Given the description of an element on the screen output the (x, y) to click on. 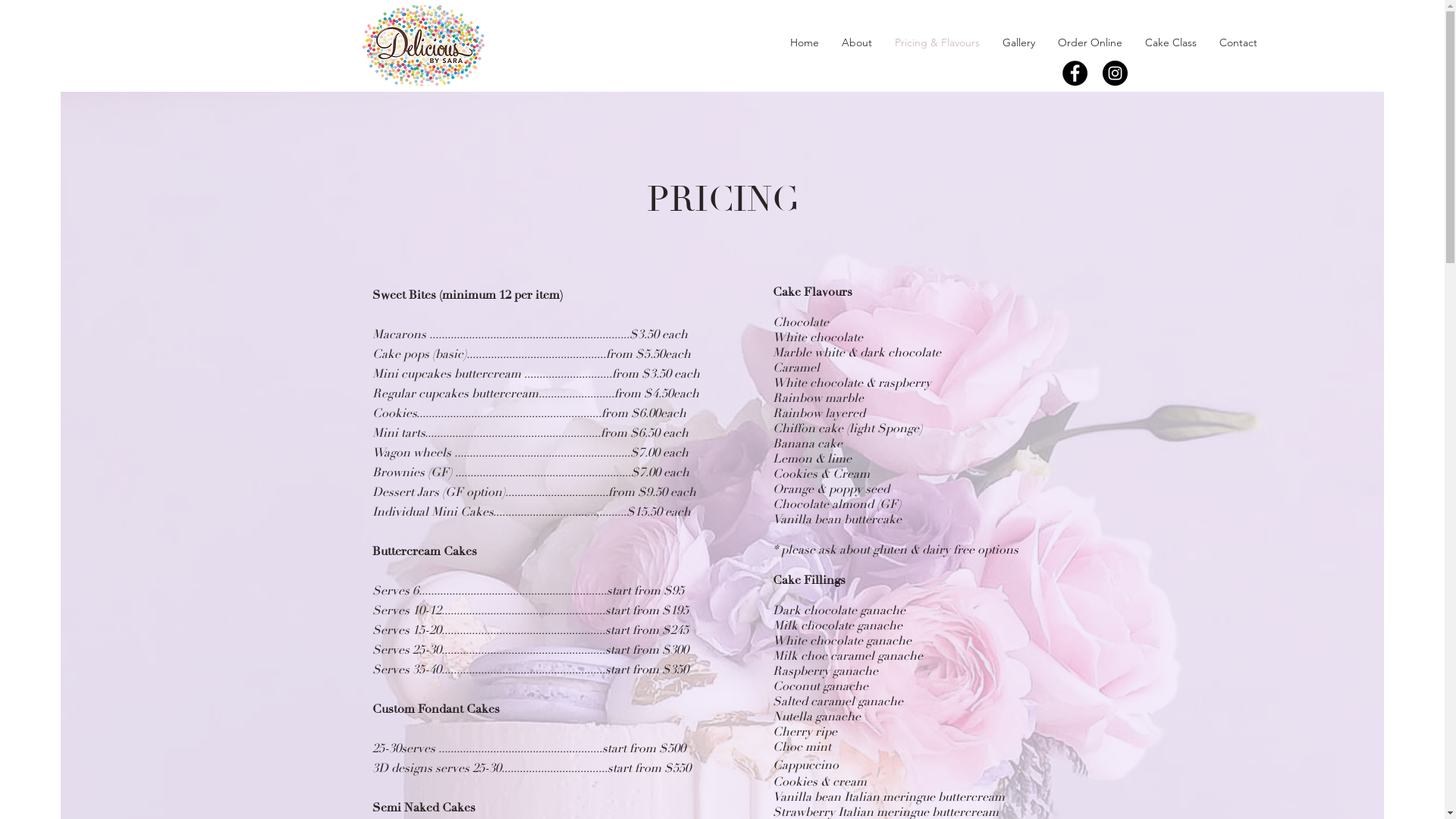
Pricing & Flavours Element type: text (937, 42)
Home Element type: text (804, 42)
Cake Class Element type: text (1170, 42)
About Element type: text (856, 42)
Contact Element type: text (1238, 42)
Gallery Element type: text (1018, 42)
Order Online Element type: text (1089, 42)
